Given the description of an element on the screen output the (x, y) to click on. 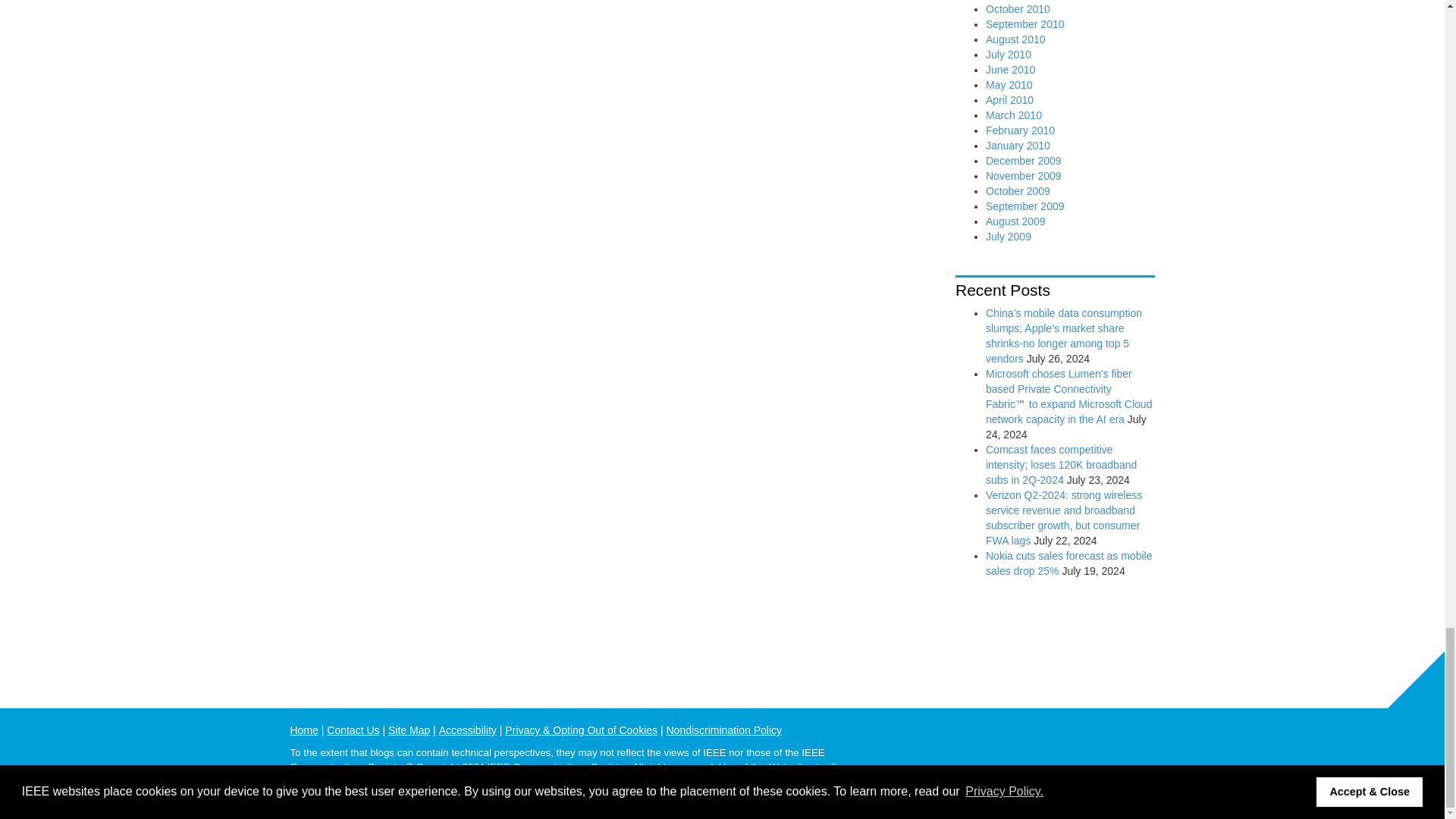
IEEE (1142, 738)
